Given the description of an element on the screen output the (x, y) to click on. 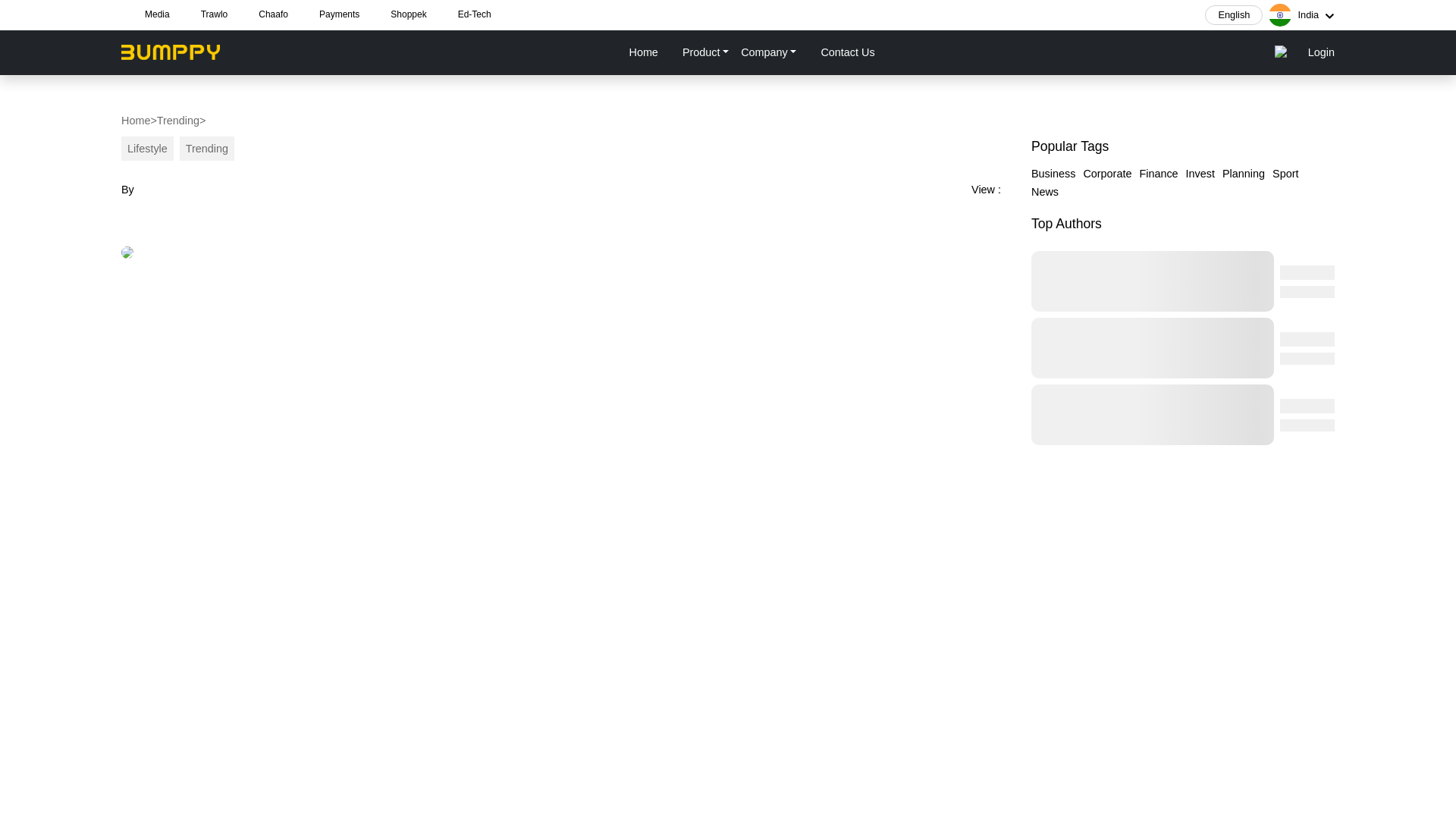
Home (134, 120)
Company (768, 52)
Product (706, 52)
Home (642, 52)
Contact Us (847, 52)
Login (1321, 52)
